Given the description of an element on the screen output the (x, y) to click on. 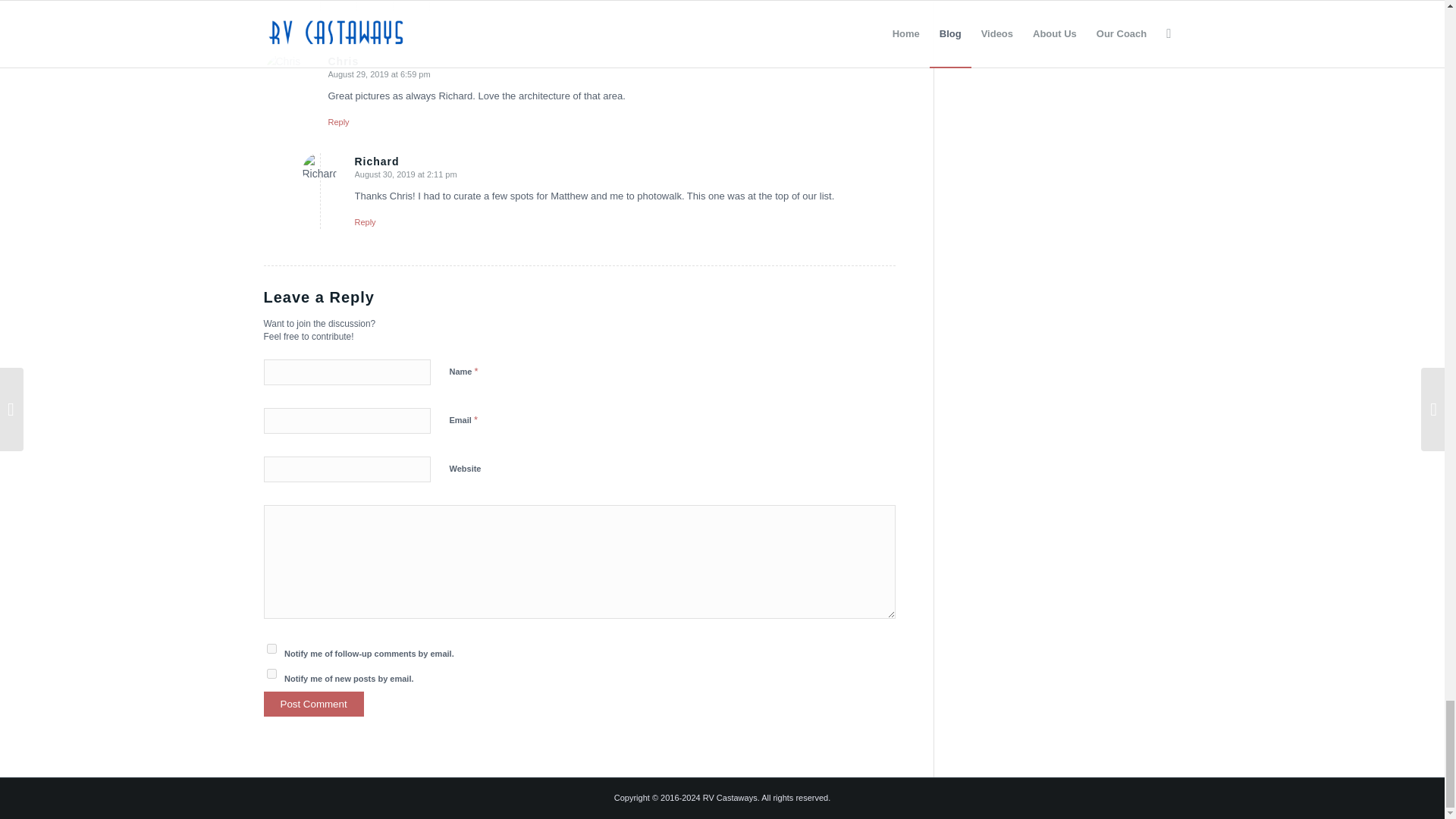
Reply (338, 121)
Reply (365, 221)
August 29, 2019 at 6:59 pm (378, 73)
subscribe (271, 673)
subscribe (271, 648)
August 30, 2019 at 2:11 pm (406, 174)
Post Comment (313, 703)
Post Comment (313, 703)
